Given the description of an element on the screen output the (x, y) to click on. 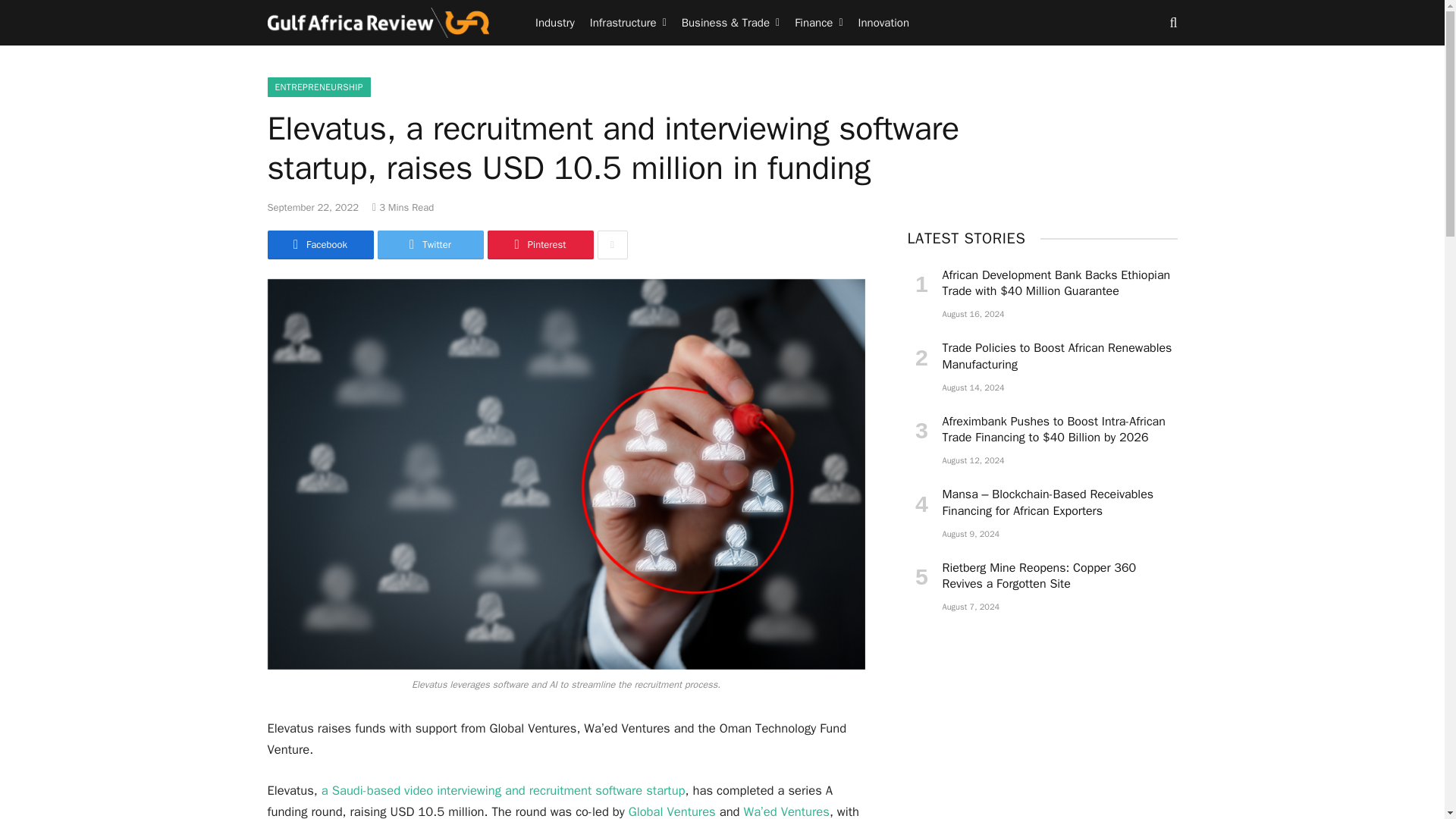
Industry (554, 22)
Gulf Africa Review (377, 22)
Infrastructure (628, 22)
